Given the description of an element on the screen output the (x, y) to click on. 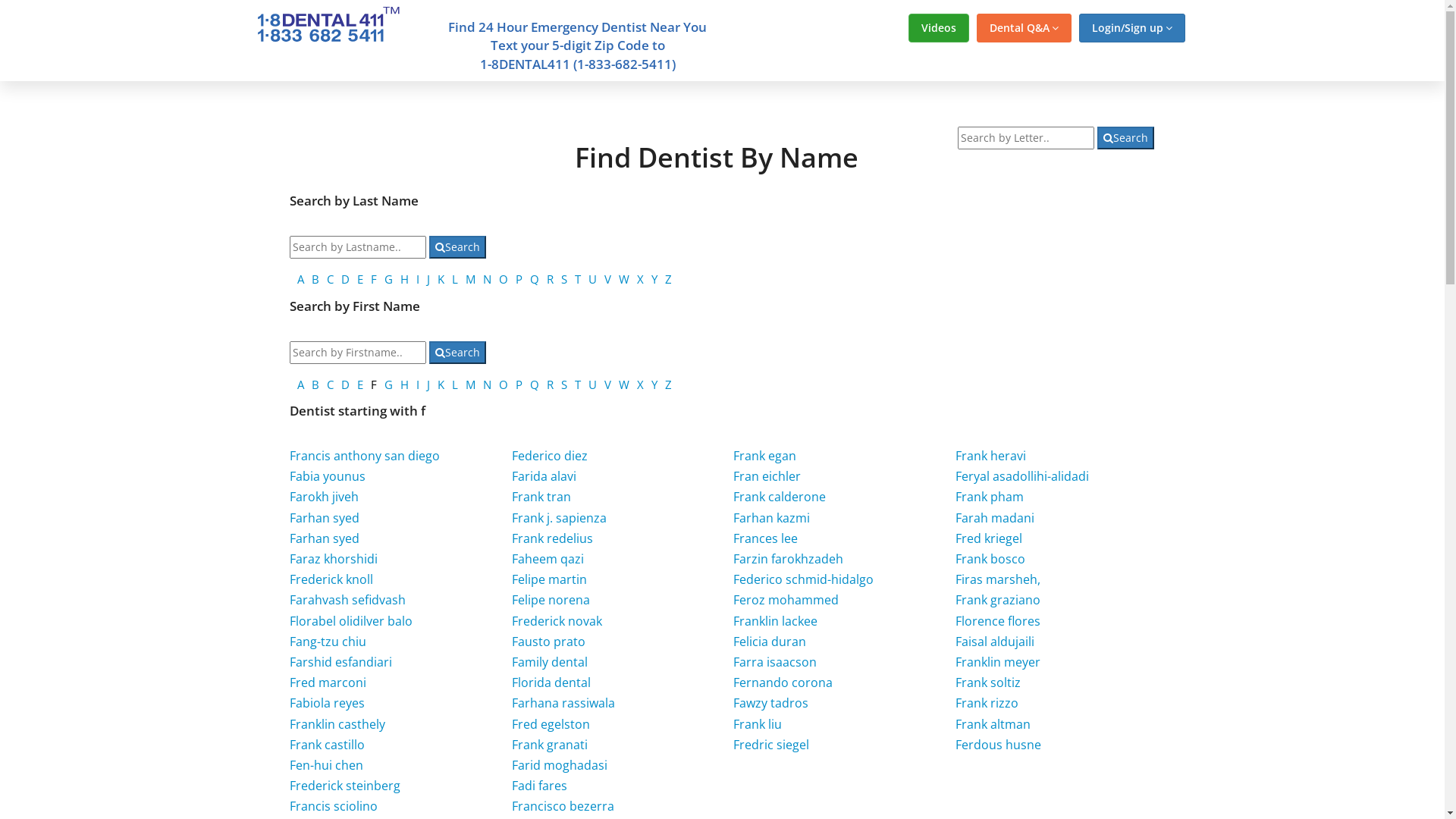
W Element type: text (623, 384)
Frank j. sapienza Element type: text (558, 517)
Y Element type: text (654, 278)
Login/Sign up Element type: text (1131, 27)
Firas marsheh, Element type: text (997, 579)
Faheem qazi Element type: text (547, 558)
P Element type: text (518, 278)
Ferdous husne Element type: text (998, 744)
Frank graziano Element type: text (997, 599)
Fadi fares Element type: text (539, 785)
L Element type: text (454, 278)
N Element type: text (487, 278)
Florabel olidilver balo Element type: text (350, 620)
Frank granati Element type: text (549, 744)
H Element type: text (404, 278)
Y Element type: text (654, 384)
Farhan kazmi Element type: text (771, 517)
O Element type: text (503, 384)
G Element type: text (388, 384)
B Element type: text (315, 384)
Farhan syed Element type: text (324, 517)
A Element type: text (300, 278)
Fabia younus Element type: text (327, 475)
N Element type: text (487, 384)
Farah madani Element type: text (994, 517)
Franklin meyer Element type: text (997, 661)
Frank altman Element type: text (992, 723)
R Element type: text (549, 278)
Felipe norena Element type: text (550, 599)
Franklin casthely Element type: text (337, 723)
Frances lee Element type: text (765, 538)
Dental Q&A Element type: text (1023, 27)
G Element type: text (388, 278)
Videos Element type: text (938, 27)
Frank calderone Element type: text (779, 496)
V Element type: text (607, 384)
E Element type: text (360, 278)
Fen-hui chen Element type: text (326, 764)
Farhan syed Element type: text (324, 538)
Feryal asadollihi-alidadi Element type: text (1021, 475)
Farzin farokhzadeh Element type: text (788, 558)
Frank pham Element type: text (989, 496)
Q Element type: text (534, 384)
D Element type: text (345, 278)
T Element type: text (577, 278)
Frederick steinberg Element type: text (344, 785)
Q Element type: text (534, 278)
Farra isaacson Element type: text (774, 661)
D Element type: text (345, 384)
Frank heravi Element type: text (990, 455)
T Element type: text (577, 384)
Farokh jiveh Element type: text (323, 496)
Fausto prato Element type: text (548, 641)
P Element type: text (518, 384)
J Element type: text (427, 278)
Frederick novak Element type: text (556, 620)
Search Element type: text (1125, 137)
O Element type: text (503, 278)
Fred kriegel Element type: text (988, 538)
Felipe martin Element type: text (548, 579)
S Element type: text (564, 384)
M Element type: text (470, 278)
Frank rizzo Element type: text (986, 702)
Farahvash sefidvash Element type: text (347, 599)
U Element type: text (592, 278)
V Element type: text (607, 278)
L Element type: text (454, 384)
U Element type: text (592, 384)
Farhana rassiwala Element type: text (563, 702)
Francis sciolino Element type: text (333, 805)
J Element type: text (427, 384)
Fran eichler Element type: text (766, 475)
Faisal aldujaili Element type: text (994, 641)
Family dental Element type: text (549, 661)
R Element type: text (549, 384)
Fredric siegel Element type: text (771, 744)
Farshid esfandiari Element type: text (340, 661)
C Element type: text (329, 278)
Search Element type: text (457, 352)
Franklin lackee Element type: text (775, 620)
Fred egelston Element type: text (550, 723)
Z Element type: text (668, 278)
Frank redelius Element type: text (552, 538)
S Element type: text (564, 278)
W Element type: text (623, 278)
I Element type: text (417, 278)
Francisco bezerra Element type: text (562, 805)
Frank soltiz Element type: text (987, 682)
E Element type: text (360, 384)
Florida dental Element type: text (550, 682)
Frank tran Element type: text (541, 496)
Z Element type: text (668, 384)
Faraz khorshidi Element type: text (333, 558)
Frank egan Element type: text (764, 455)
K Element type: text (440, 278)
X Element type: text (640, 384)
A Element type: text (300, 384)
Felicia duran Element type: text (769, 641)
Farida alavi Element type: text (543, 475)
Federico schmid-hidalgo Element type: text (803, 579)
Frank liu Element type: text (757, 723)
Fred marconi Element type: text (327, 682)
Federico diez Element type: text (549, 455)
Fawzy tadros Element type: text (770, 702)
Frank castillo Element type: text (326, 744)
Search Element type: text (457, 246)
X Element type: text (640, 278)
Frederick knoll Element type: text (331, 579)
Fabiola reyes Element type: text (326, 702)
Frank bosco Element type: text (990, 558)
Fernando corona Element type: text (782, 682)
F Element type: text (373, 278)
K Element type: text (440, 384)
C Element type: text (329, 384)
M Element type: text (470, 384)
Francis anthony san diego Element type: text (364, 455)
H Element type: text (404, 384)
Florence flores Element type: text (997, 620)
I Element type: text (417, 384)
B Element type: text (315, 278)
Feroz mohammed Element type: text (785, 599)
Farid moghadasi Element type: text (559, 764)
Fang-tzu chiu Element type: text (327, 641)
